Given the description of an element on the screen output the (x, y) to click on. 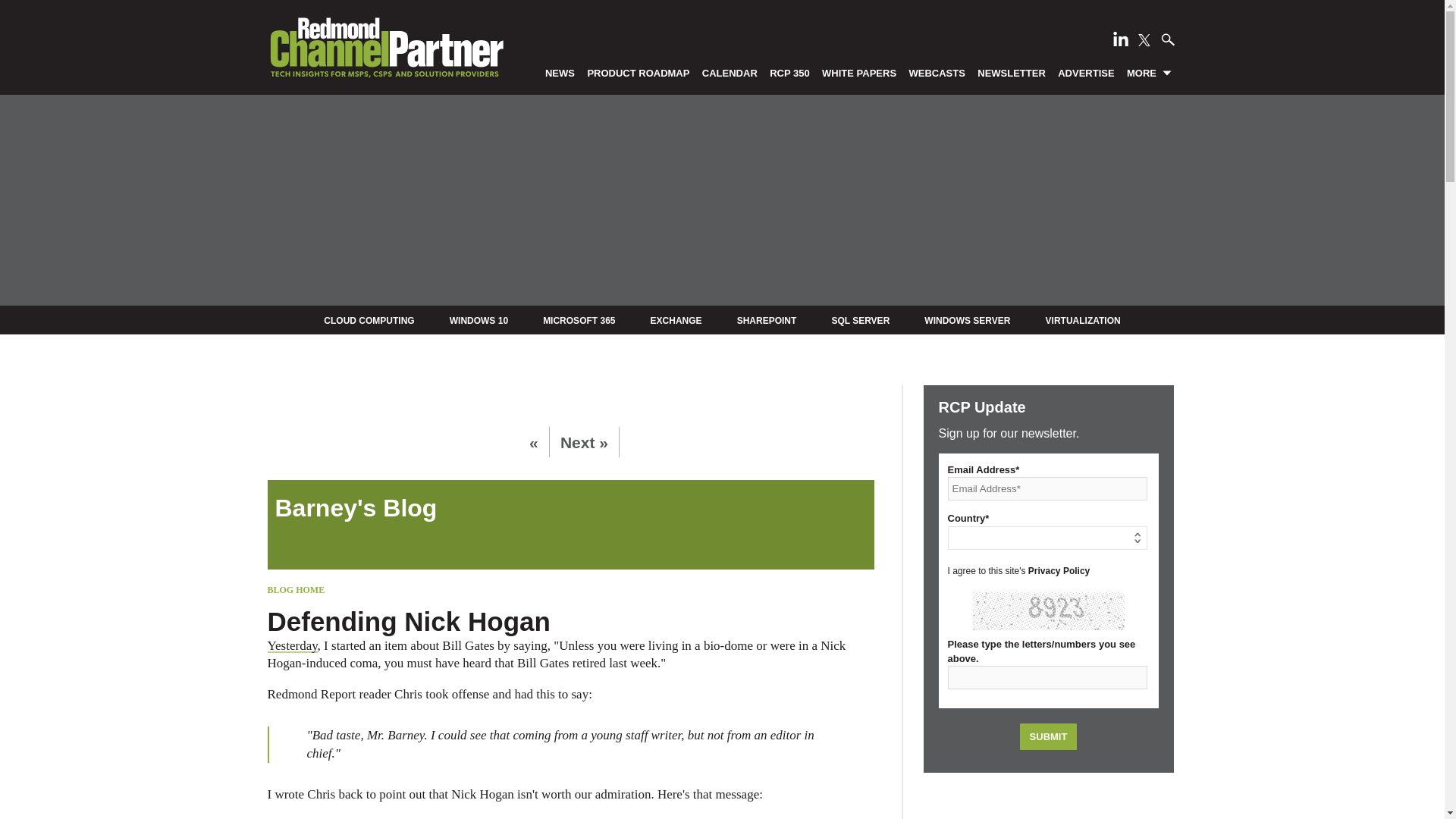
VIRTUALIZATION (1083, 320)
Blog archive (569, 507)
SQL SERVER (860, 320)
NEWSLETTER (1011, 72)
NEWS (559, 72)
Submit (1048, 736)
EXCHANGE (675, 320)
RCP 350 (790, 72)
WHITE PAPERS (858, 72)
MORE (1149, 72)
